Given the description of an element on the screen output the (x, y) to click on. 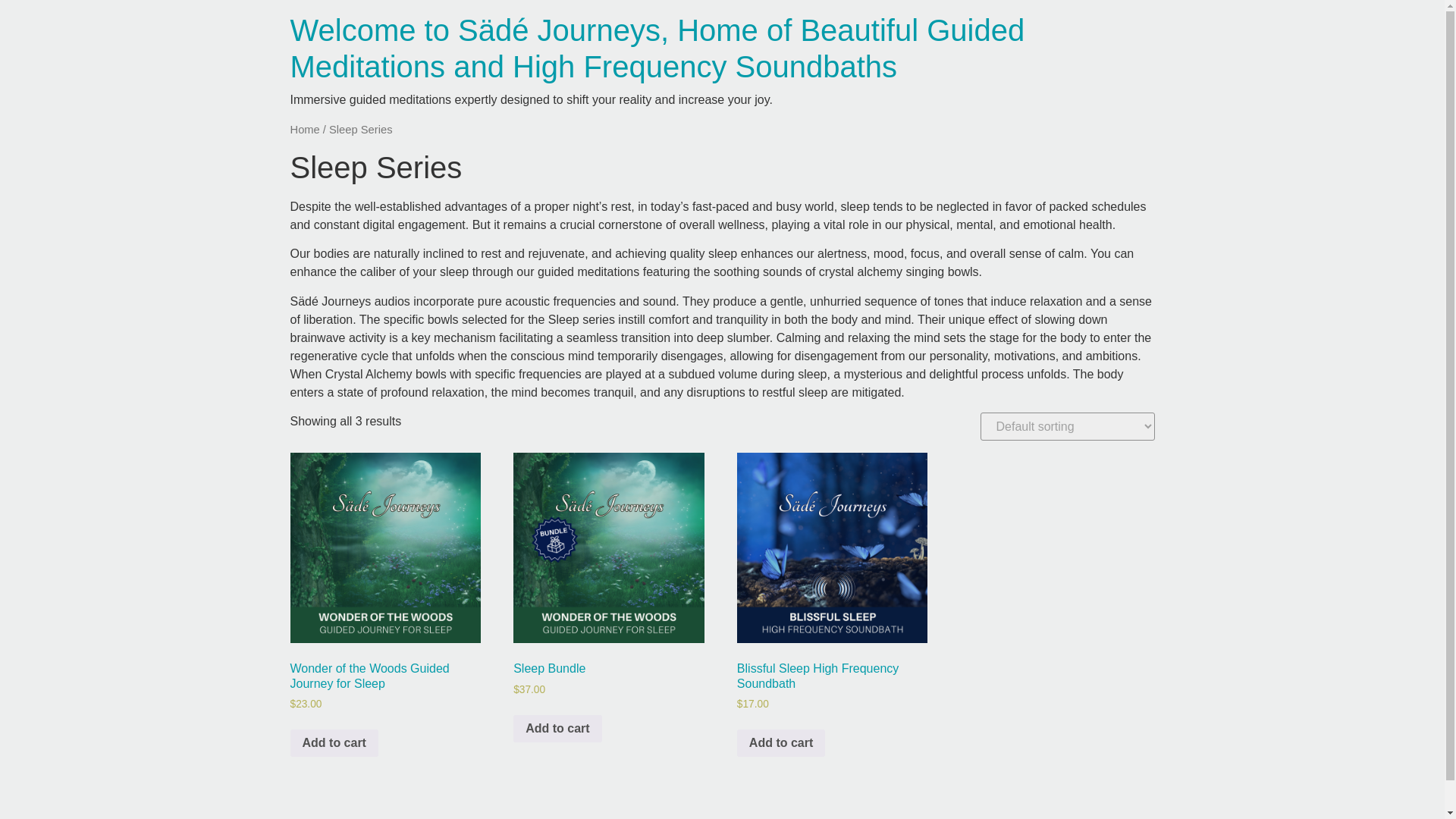
Add to cart (557, 728)
Blissful Sleep High Frequency Soundbath (831, 547)
Wonder of the Woods Guided Journey for Sleep (384, 547)
Sleep Bundle (608, 547)
Home (657, 48)
Add to cart (333, 742)
Home (303, 129)
Add to cart (780, 742)
